Given the description of an element on the screen output the (x, y) to click on. 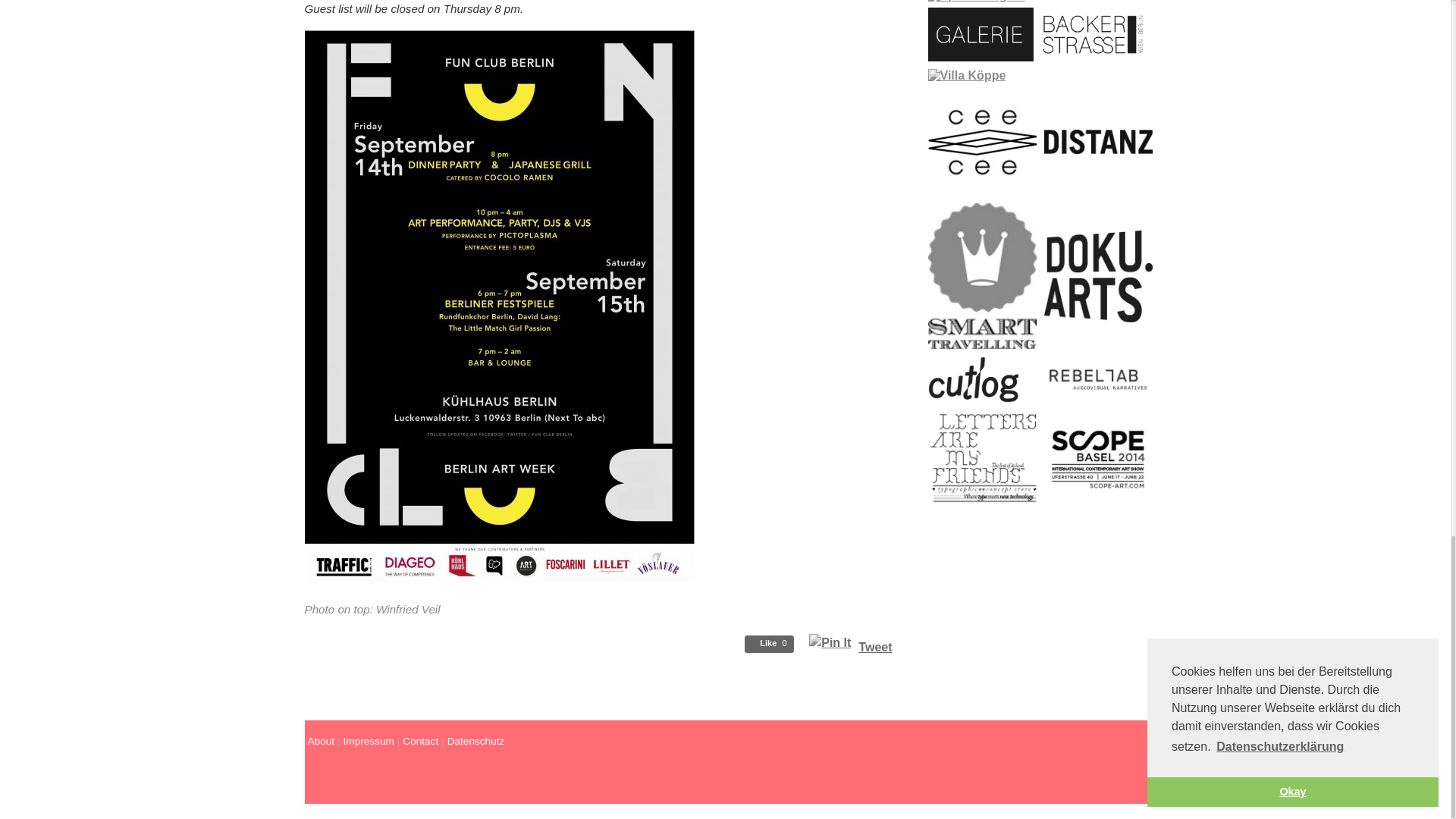
Pin It (829, 642)
Like (768, 643)
Pin It (829, 642)
